Given the description of an element on the screen output the (x, y) to click on. 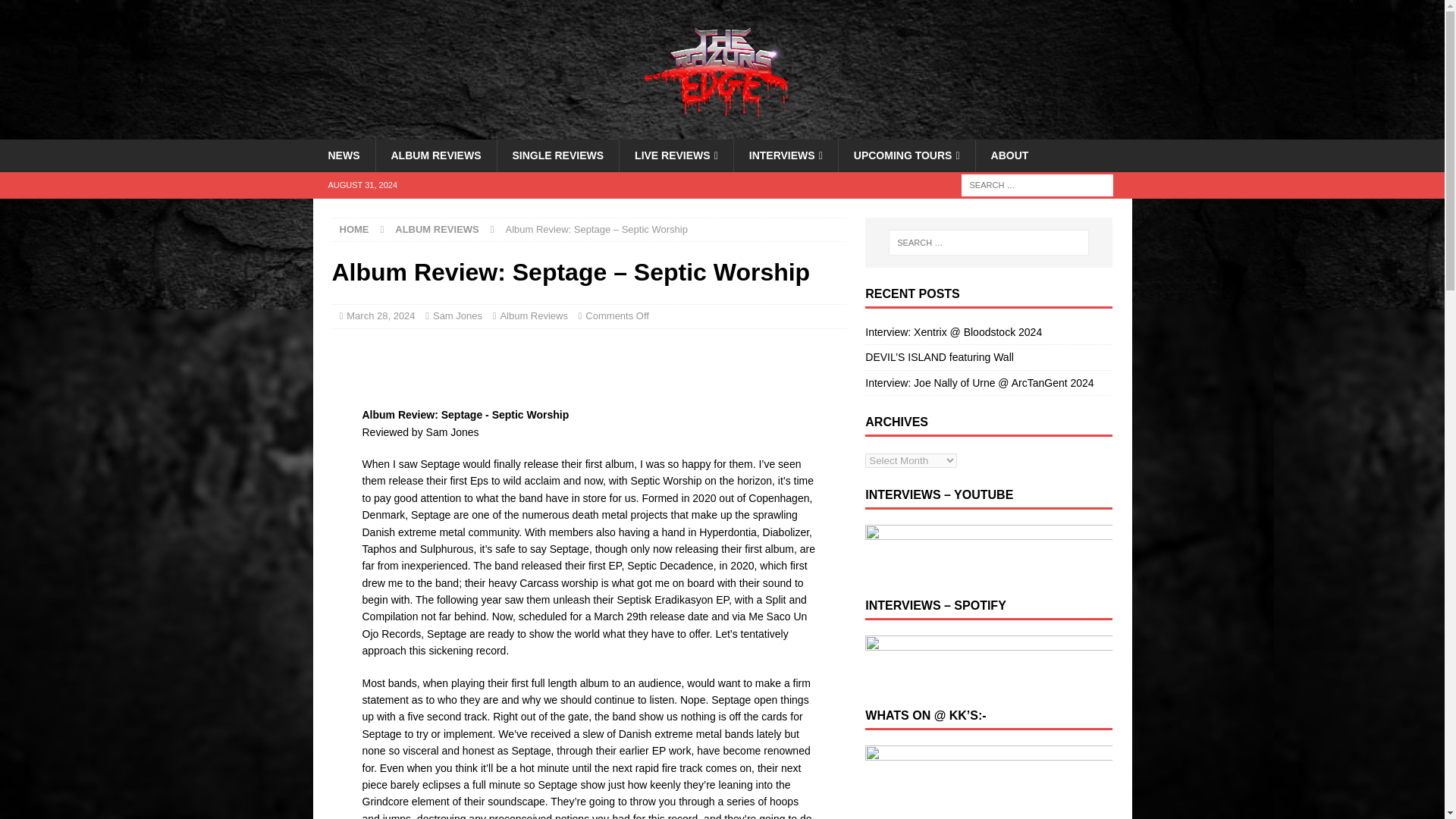
NEWS (343, 155)
LIVE REVIEWS (675, 155)
Sam Jones (456, 315)
ABOUT (1009, 155)
ALBUM REVIEWS (435, 155)
UPCOMING TOURS (906, 155)
March 28, 2024 (380, 315)
Search (56, 11)
HOME (354, 229)
INTERVIEWS (785, 155)
